Given the description of an element on the screen output the (x, y) to click on. 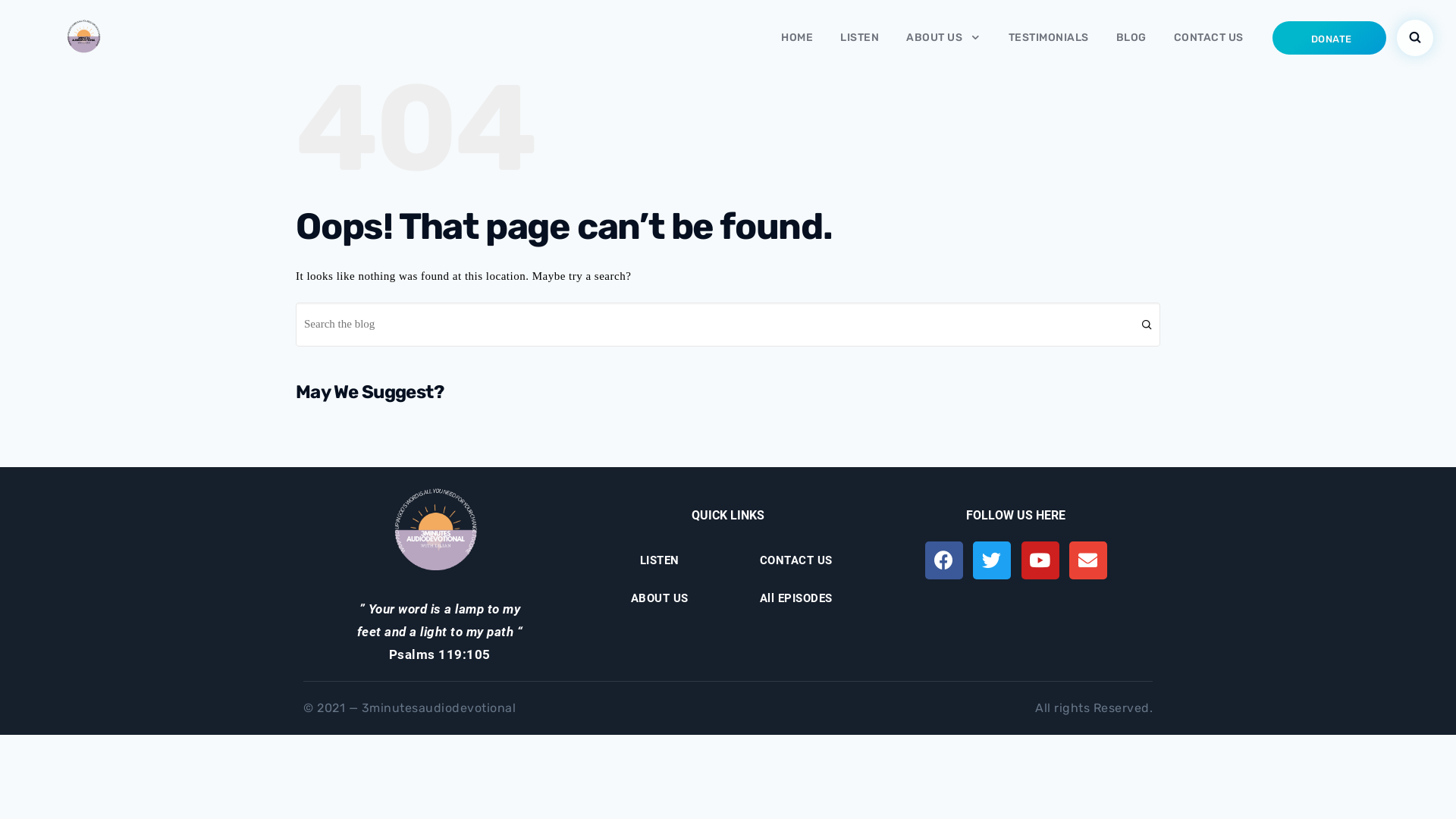
DONATE Element type: text (1329, 37)
ABOUT US Element type: text (659, 598)
HOME Element type: text (796, 36)
LISTEN Element type: text (859, 36)
ABOUT US Element type: text (943, 37)
LISTEN Element type: text (659, 560)
CONTACT US Element type: text (1208, 36)
CONTACT US Element type: text (795, 560)
All EPISODES Element type: text (795, 598)
BLOG Element type: text (1131, 36)
TESTIMONIALS Element type: text (1048, 36)
